Given the description of an element on the screen output the (x, y) to click on. 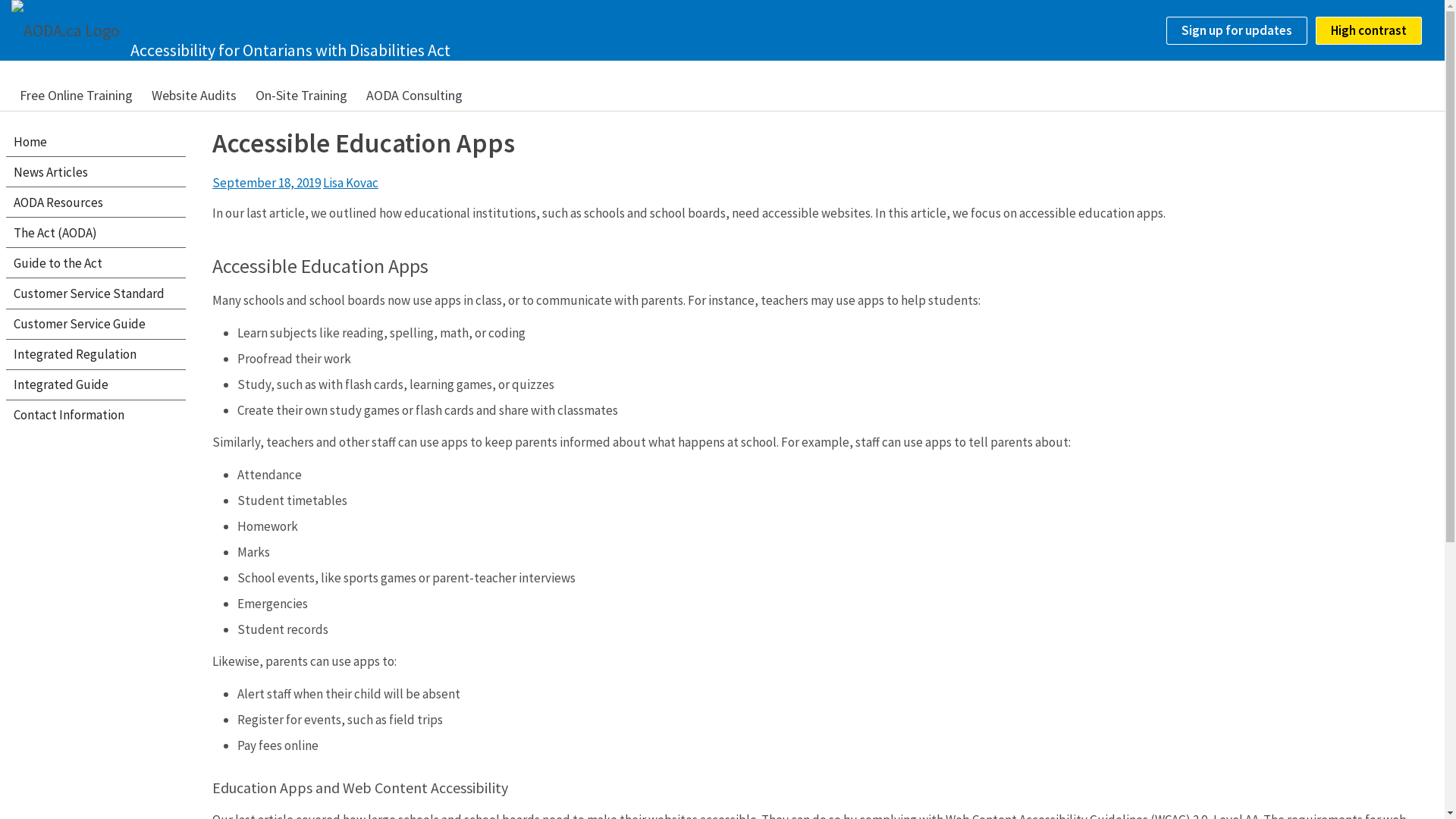
Free Online Training Element type: text (76, 94)
AODA Resources Element type: text (96, 201)
Integrated Guide Element type: text (96, 384)
Customer Service Guide Element type: text (96, 323)
Guide to the Act Element type: text (96, 262)
The Act (AODA) Element type: text (96, 232)
September 18, 2019 Element type: text (266, 182)
High contrast Element type: text (1368, 30)
AODA Consulting Element type: text (413, 94)
Accessibility for Ontarians with Disabilities Act Element type: text (290, 49)
News Articles Element type: text (96, 171)
Lisa Kovac Element type: text (350, 182)
Home Element type: text (96, 141)
Sign up for updates Element type: text (1236, 30)
Integrated Regulation Element type: text (96, 354)
Contact Information Element type: text (96, 414)
On-Site Training Element type: text (301, 94)
Customer Service Standard Element type: text (96, 292)
Website Audits Element type: text (193, 94)
